Given the description of an element on the screen output the (x, y) to click on. 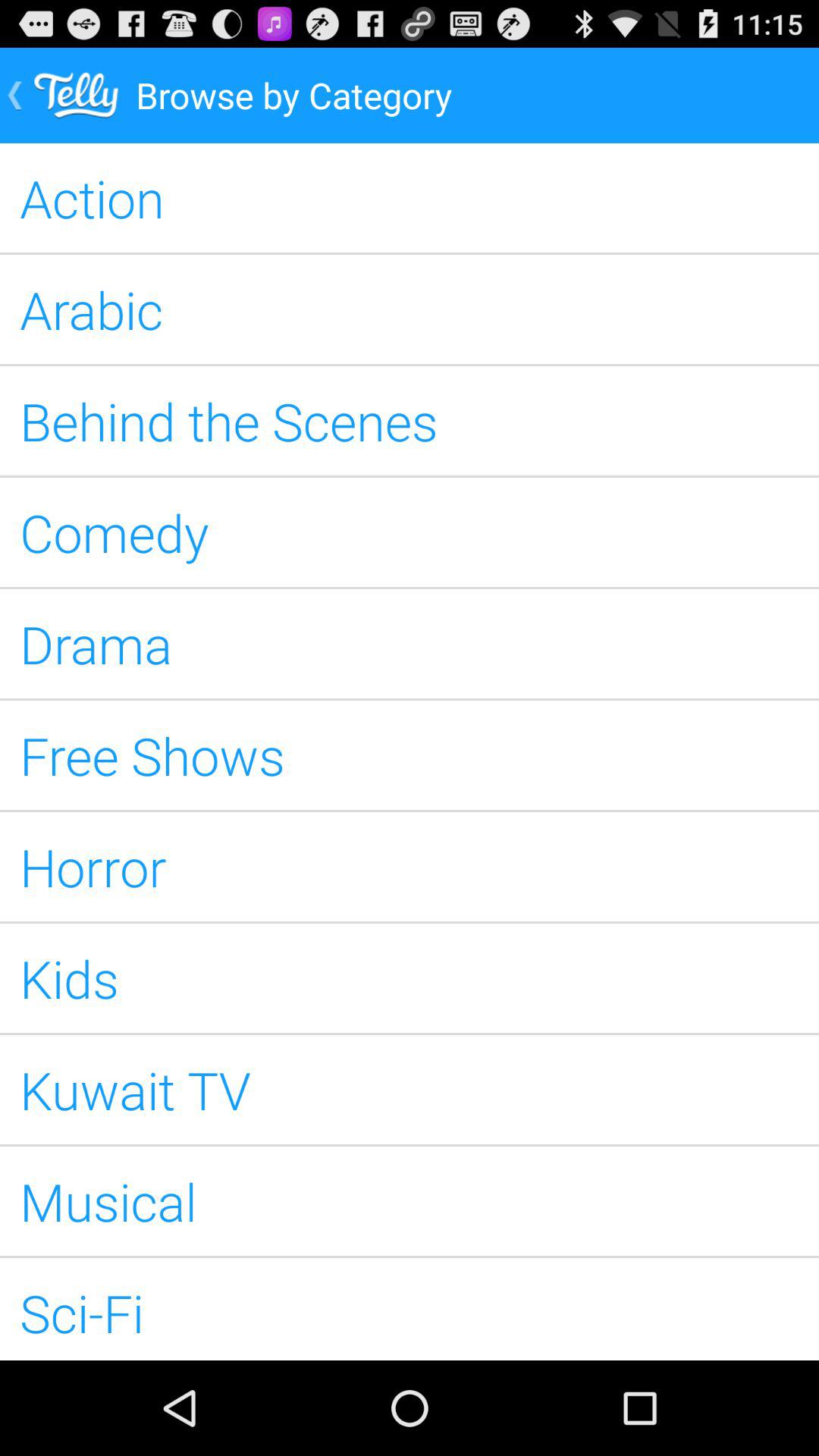
launch the horror icon (409, 866)
